Given the description of an element on the screen output the (x, y) to click on. 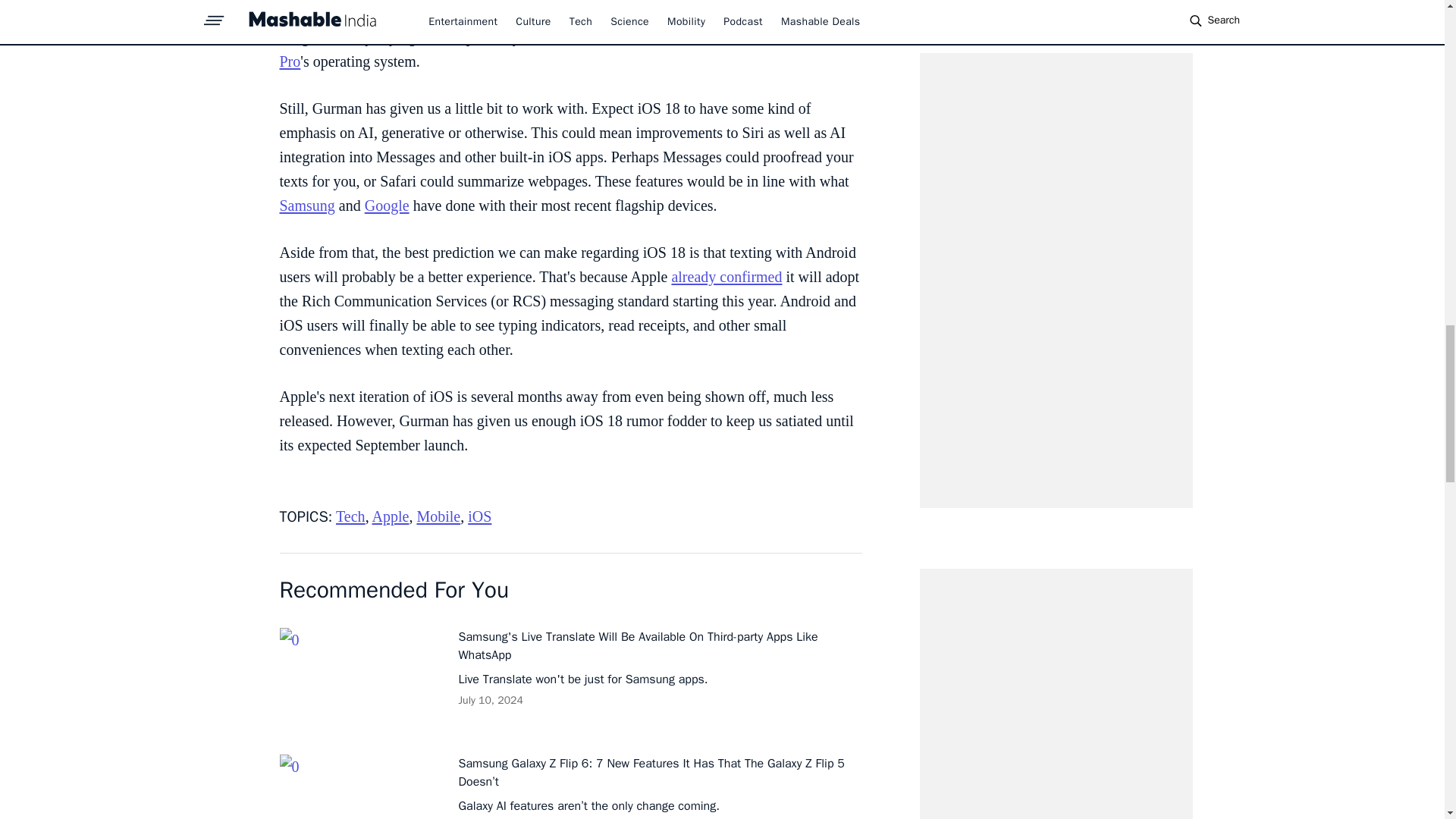
Tech (350, 515)
Power On newsletter (697, 12)
already confirmed (726, 276)
Vision Pro (563, 48)
Google (387, 205)
Samsung (306, 205)
Mobile (438, 515)
iOS (479, 515)
Apple (390, 515)
